Given the description of an element on the screen output the (x, y) to click on. 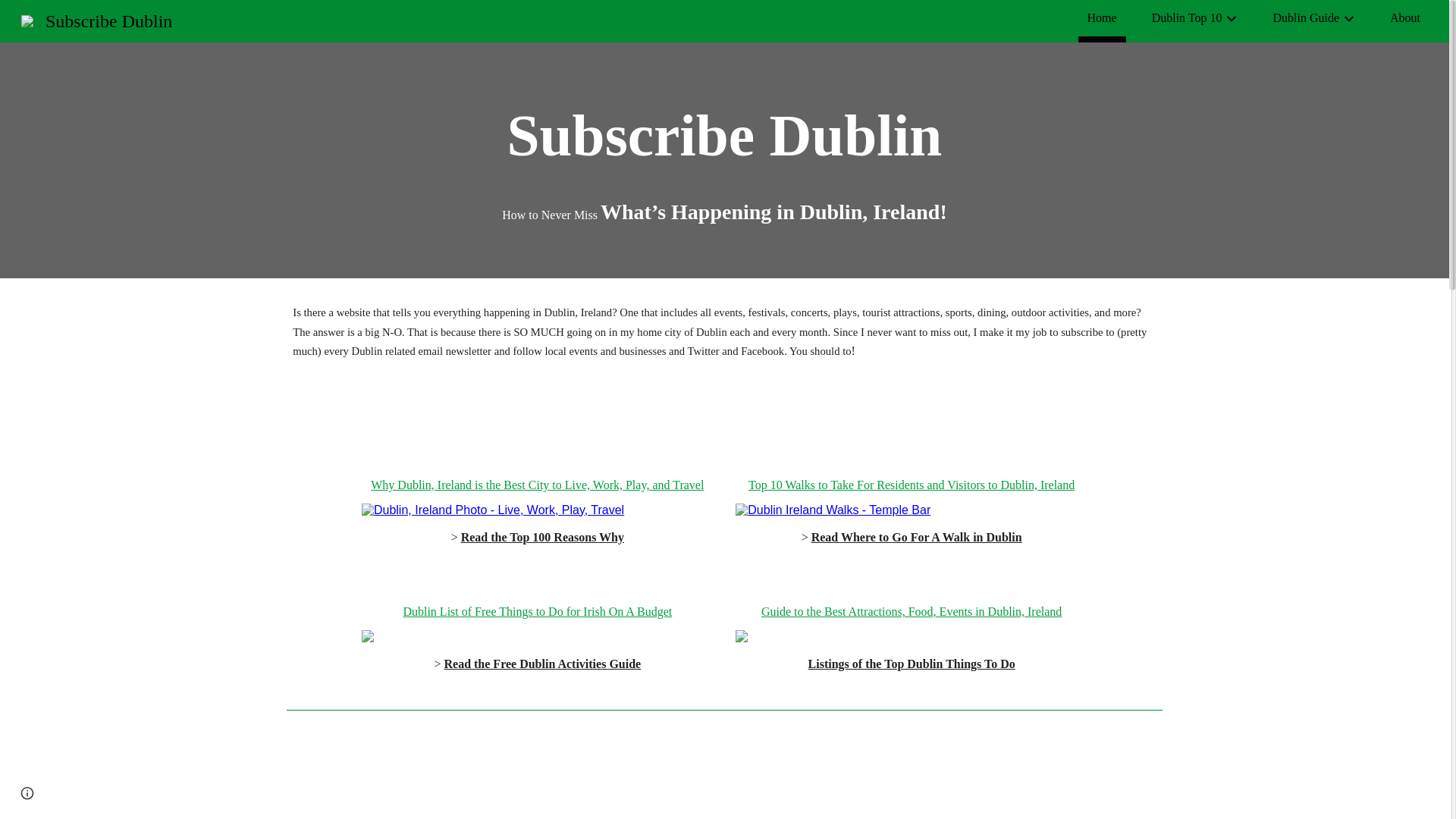
Dublin Top 10 (1187, 17)
Custom embed (499, 776)
Home (1101, 17)
About (1405, 17)
Subscribe Dublin (95, 19)
Dublin Guide (1305, 17)
